Given the description of an element on the screen output the (x, y) to click on. 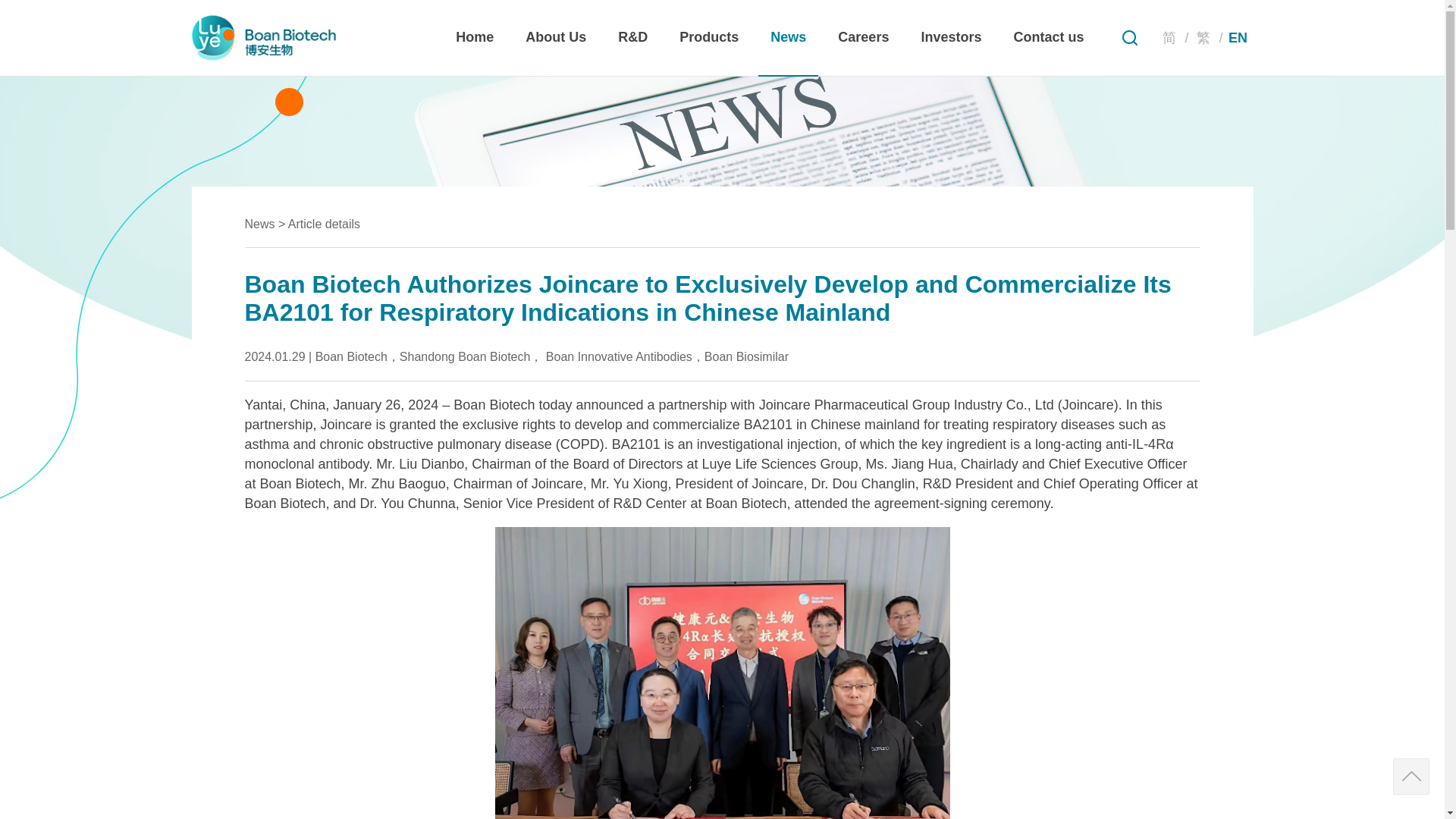
EN (1237, 37)
Careers (863, 38)
Products (708, 38)
About Us (555, 38)
Investors (950, 38)
Contact us (1048, 38)
